Given the description of an element on the screen output the (x, y) to click on. 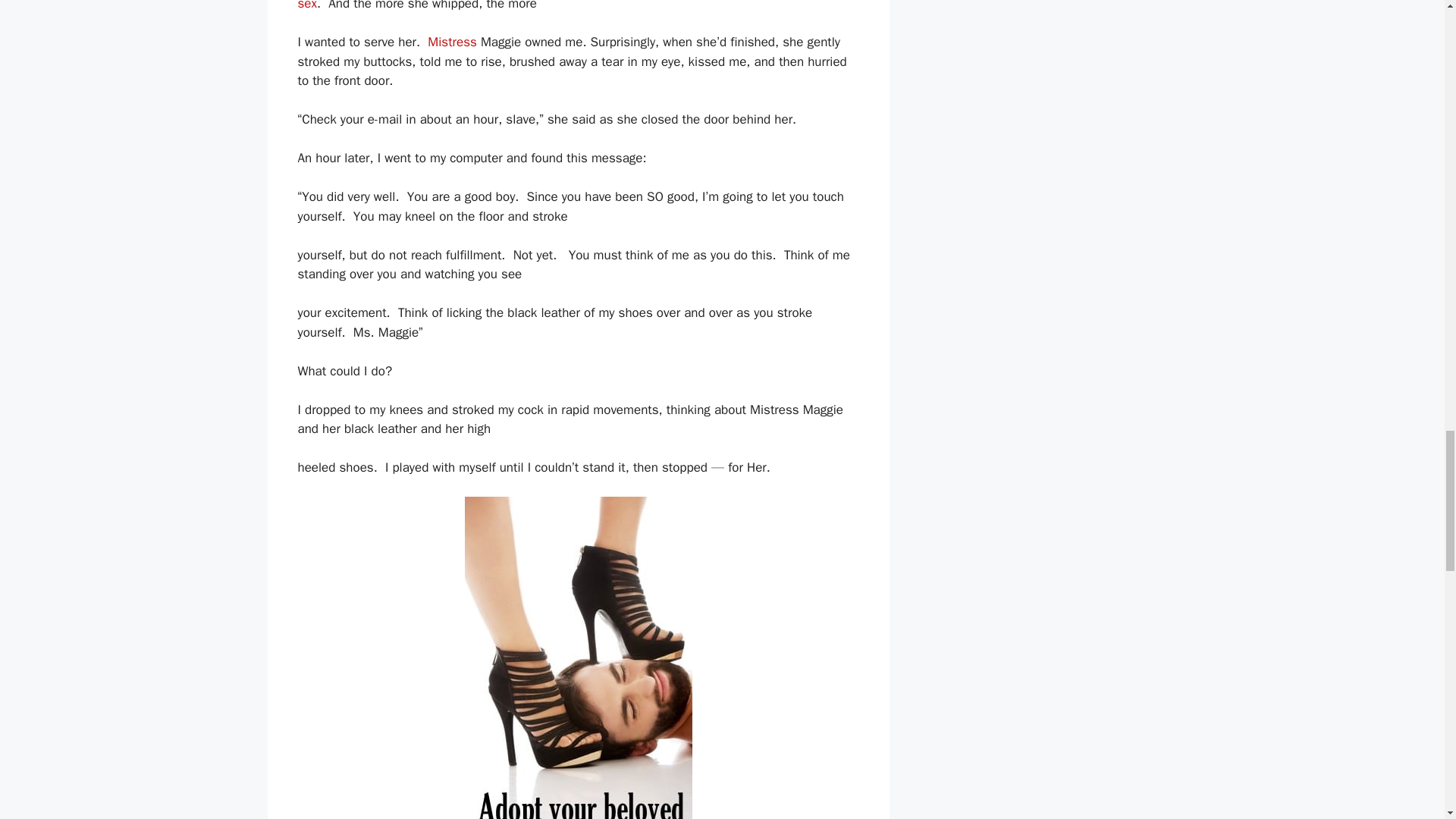
Mistress (452, 41)
sex (306, 5)
